Given the description of an element on the screen output the (x, y) to click on. 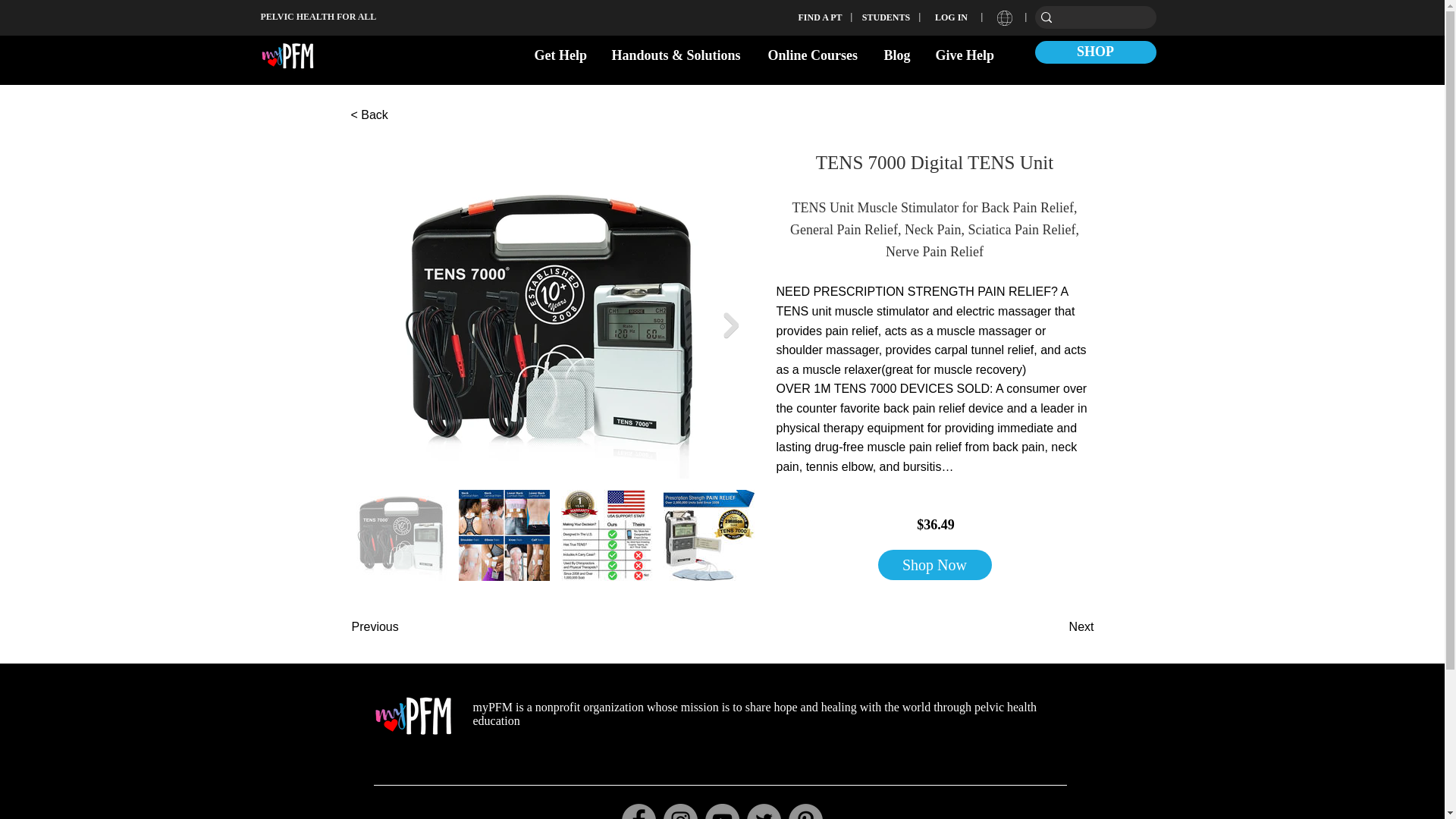
Get Help (560, 55)
Blog (897, 55)
SHOP (1094, 51)
Give Help (965, 55)
Online Courses (814, 55)
LOG IN (952, 16)
FIND A PT (820, 16)
STUDENTS (885, 16)
